Given the description of an element on the screen output the (x, y) to click on. 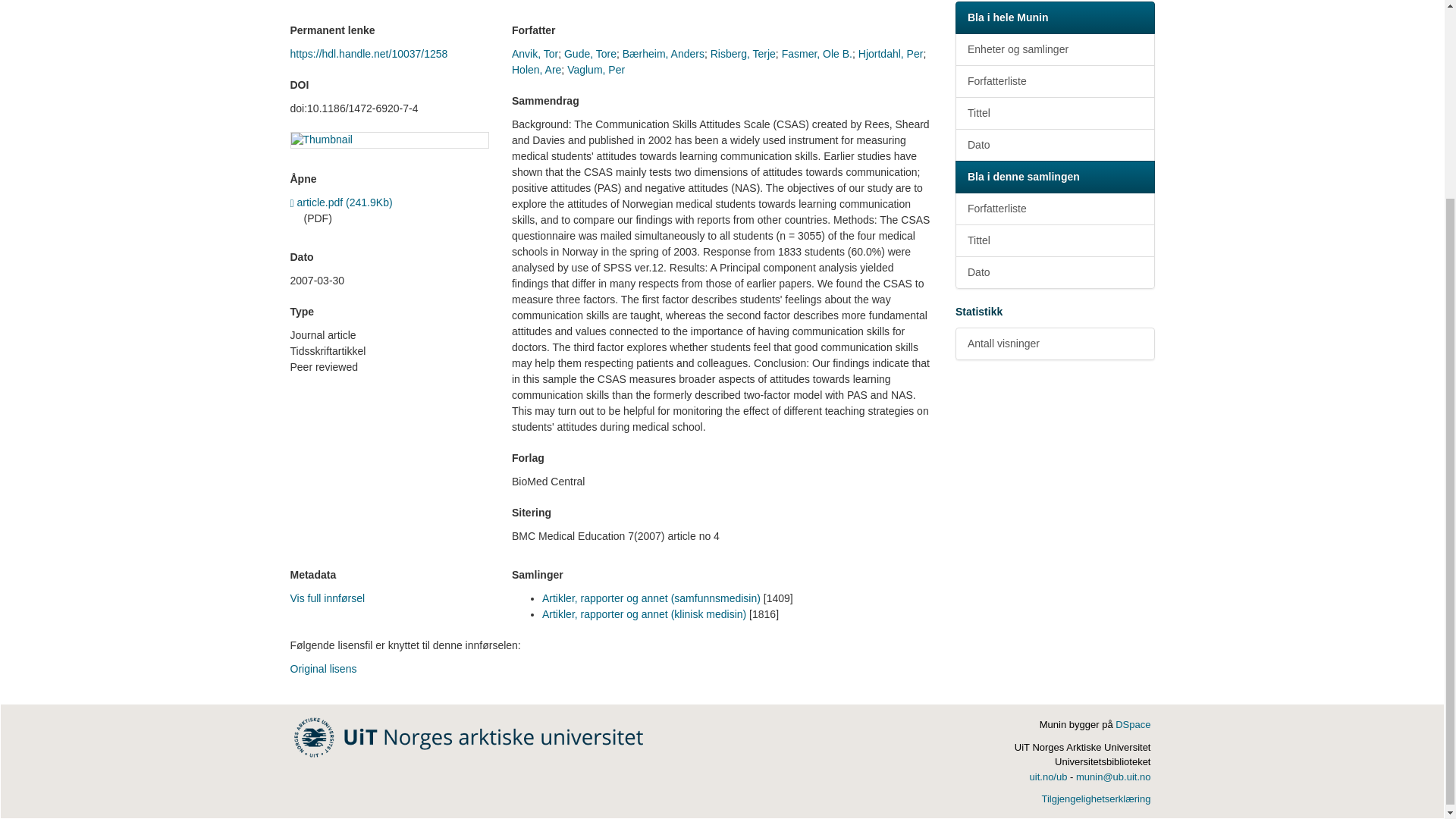
Risberg, Terje (743, 53)
Original lisens (322, 668)
Gude, Tore (589, 53)
Bla i hele Munin (1054, 17)
Fasmer, Ole B. (816, 53)
UiT (468, 736)
Enheter og samlinger (1054, 49)
Holen, Are (536, 69)
Anvik, Tor (534, 53)
Vaglum, Per (595, 69)
